Given the description of an element on the screen output the (x, y) to click on. 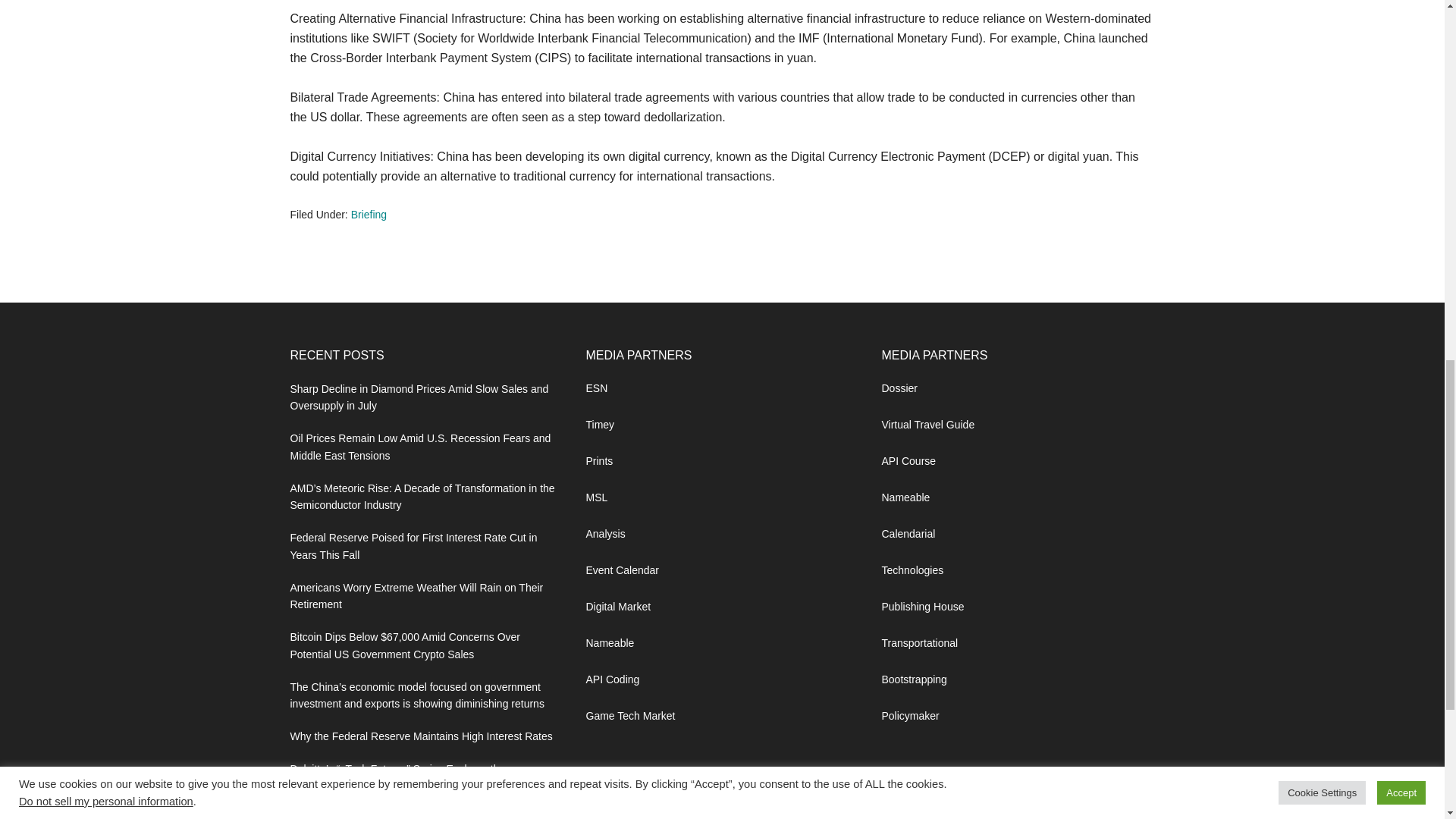
Digital Market (617, 606)
ESN (596, 387)
ESN (596, 387)
Game Tech Market (630, 715)
Prints (598, 460)
Game Tech Market (630, 715)
MSL (596, 497)
Timey (599, 424)
